Given the description of an element on the screen output the (x, y) to click on. 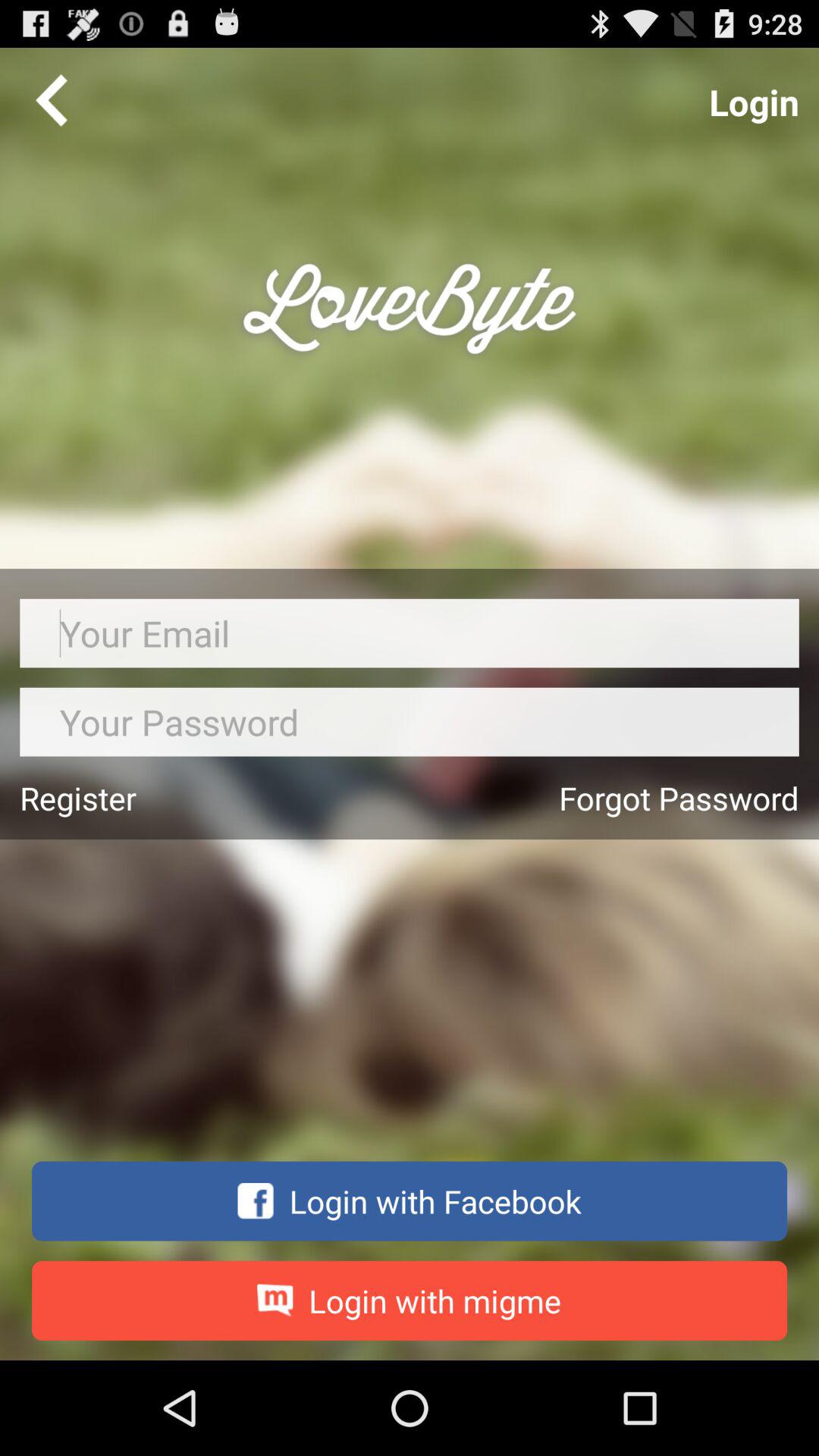
go back (51, 99)
